Given the description of an element on the screen output the (x, y) to click on. 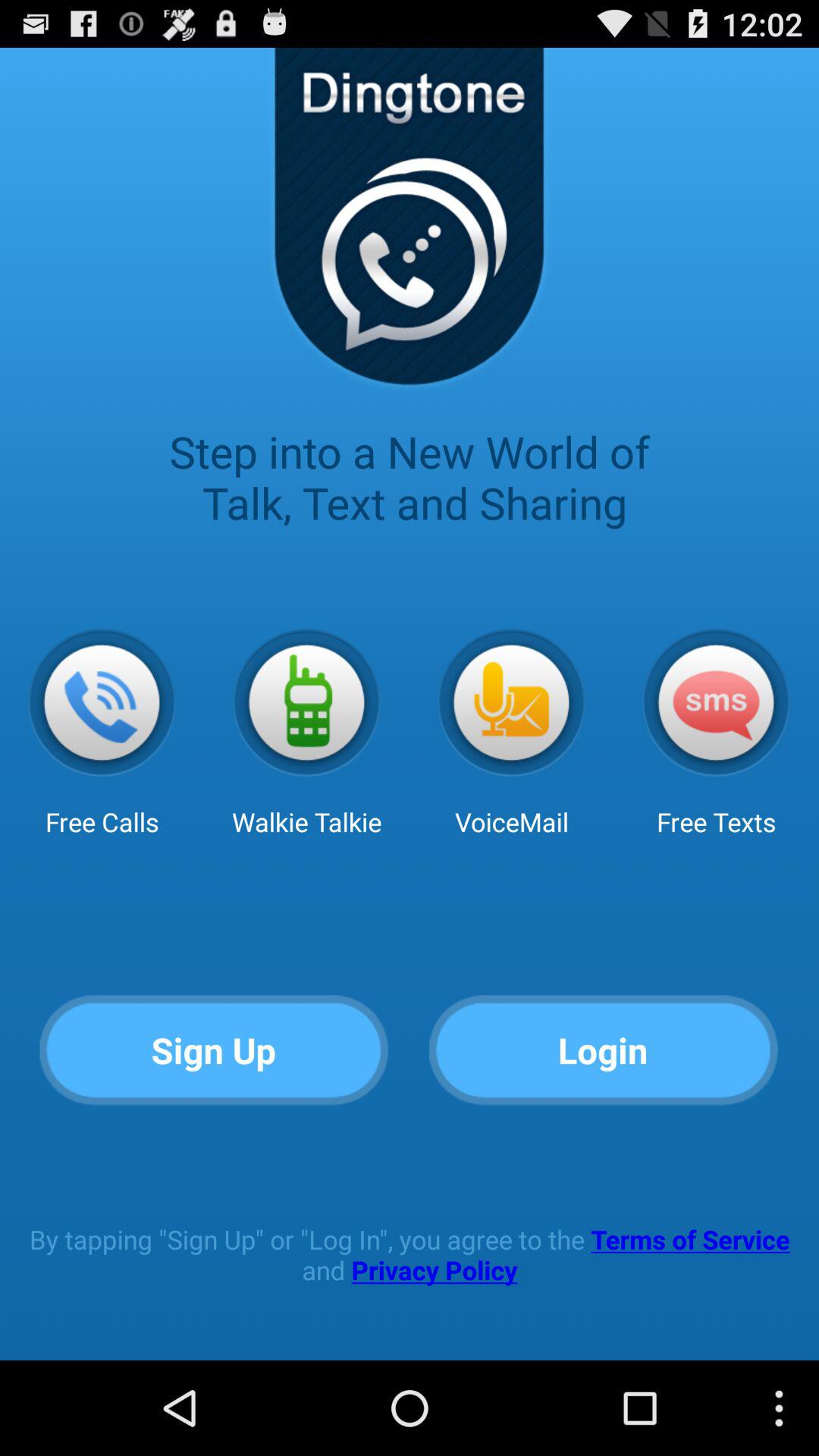
jump to the by tapping sign item (409, 1254)
